Given the description of an element on the screen output the (x, y) to click on. 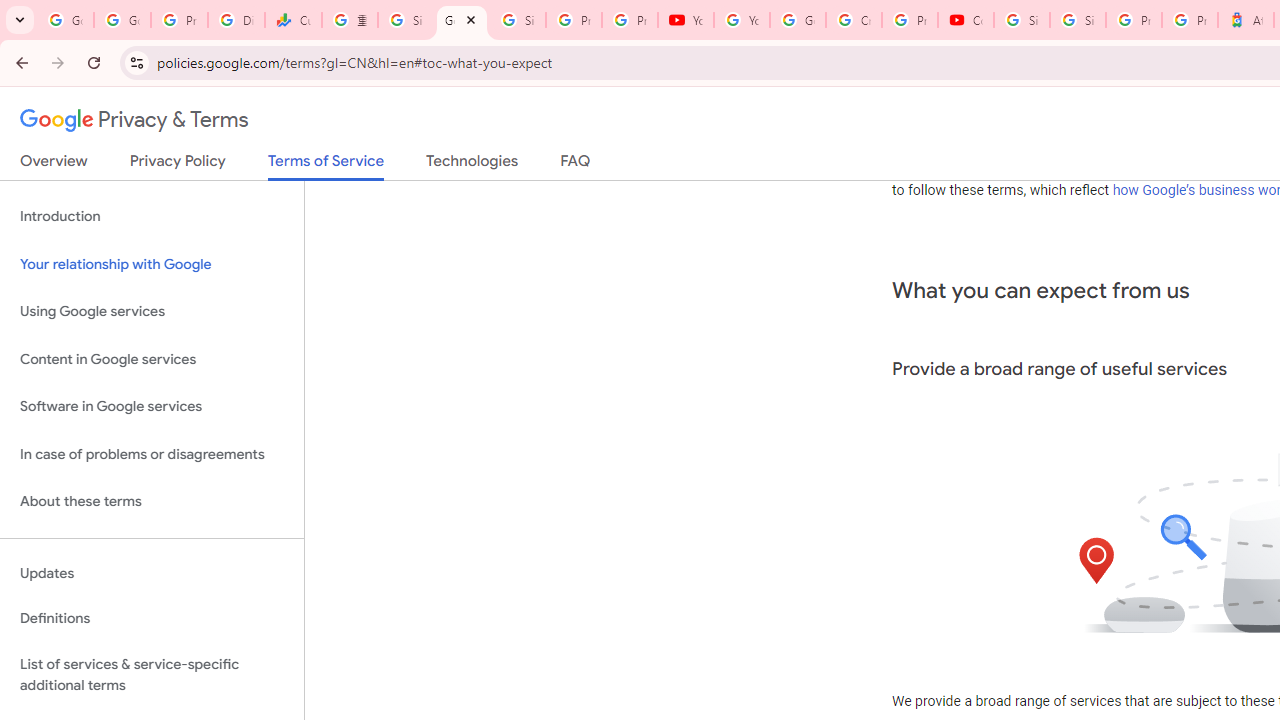
Sign in - Google Accounts (405, 20)
Your relationship with Google (152, 263)
affiliates (1076, 165)
Content Creator Programs & Opportunities - YouTube Creators (966, 20)
Sign in - Google Accounts (1077, 20)
